Given the description of an element on the screen output the (x, y) to click on. 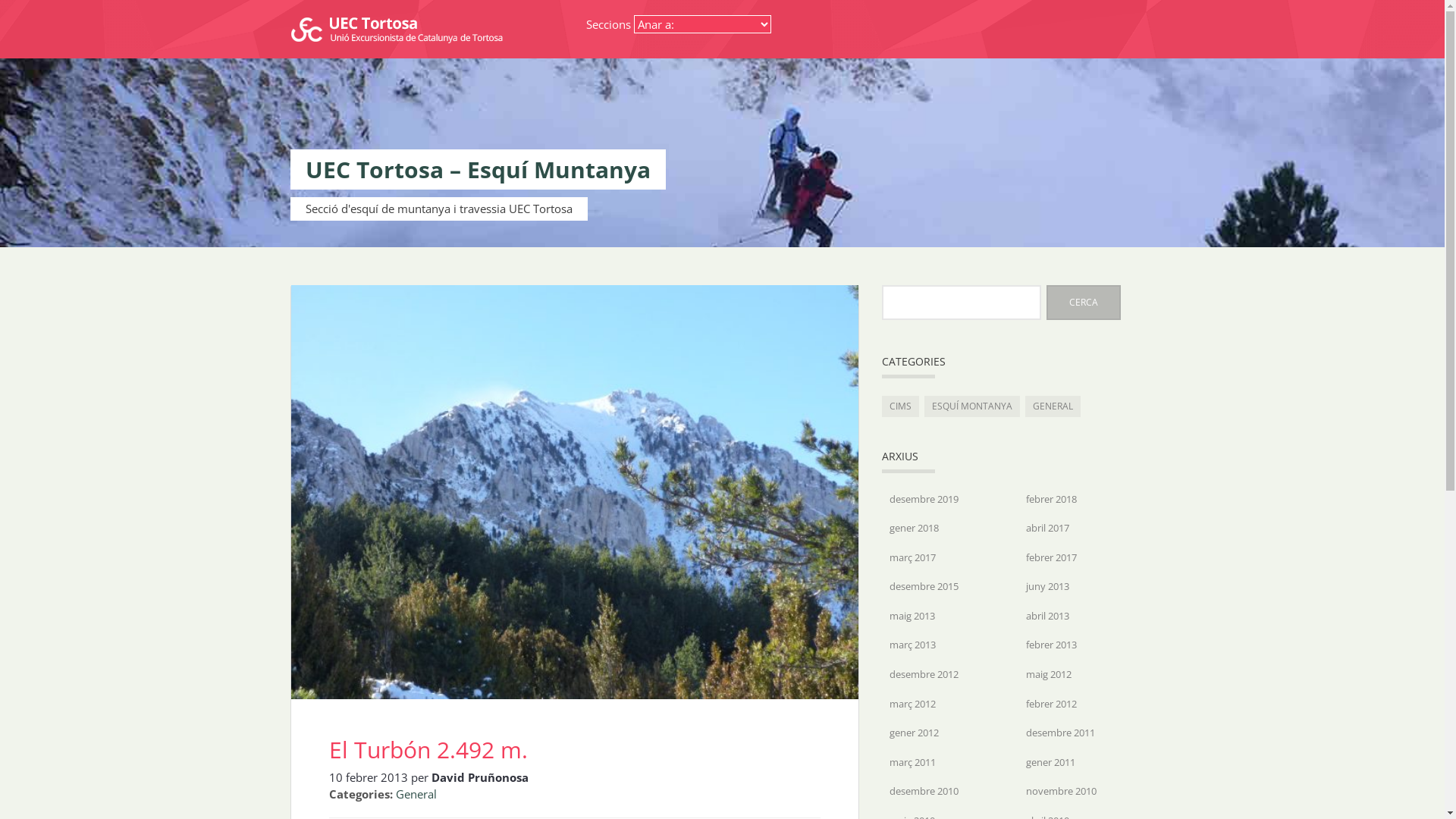
desembre 2011 Element type: text (1059, 732)
desembre 2010 Element type: text (923, 791)
General Element type: text (415, 793)
GENERAL Element type: text (1052, 406)
Cerca Element type: text (1083, 302)
CIMS Element type: text (899, 406)
febrer 2013 Element type: text (1050, 644)
maig 2012 Element type: text (1047, 674)
gener 2018 Element type: text (913, 527)
febrer 2018 Element type: text (1050, 499)
abril 2017 Element type: text (1046, 527)
febrer 2012 Element type: text (1050, 703)
gener 2012 Element type: text (913, 732)
maig 2013 Element type: text (911, 615)
febrer 2017 Element type: text (1050, 557)
desembre 2019 Element type: text (923, 499)
abril 2013 Element type: text (1046, 615)
desembre 2012 Element type: text (923, 674)
juny 2013 Element type: text (1046, 586)
novembre 2010 Element type: text (1060, 791)
gener 2011 Element type: text (1049, 762)
desembre 2015 Element type: text (923, 586)
